Given the description of an element on the screen output the (x, y) to click on. 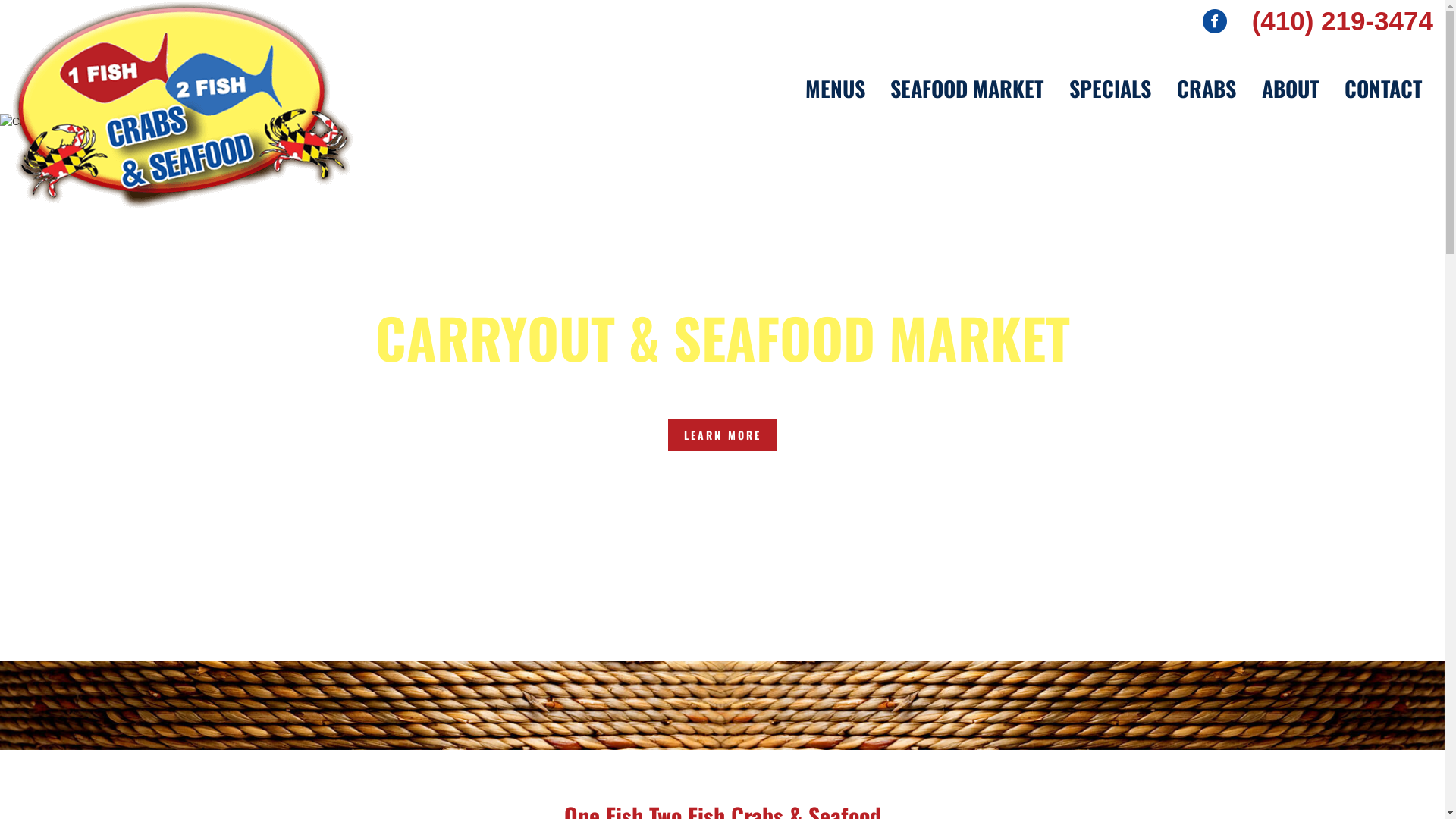
LEARN MORE Element type: text (722, 434)
CRABS Element type: text (1206, 88)
One Fish Two Fish Crabs & Seafood Element type: hover (182, 103)
MENUS Element type: text (834, 88)
SPECIALS Element type: text (1109, 88)
Facebook Element type: hover (1214, 20)
One Fish Two Fish Crabs & Seafood Element type: hover (182, 104)
Rope Element type: hover (722, 704)
(410) 219-3474 Element type: text (1342, 20)
CONTACT Element type: text (1383, 88)
ABOUT Element type: text (1290, 88)
One Fish, Two Fish Crab & Seafood Market Salisbury MD Element type: hover (722, 386)
SEAFOOD MARKET Element type: text (966, 88)
